Given the description of an element on the screen output the (x, y) to click on. 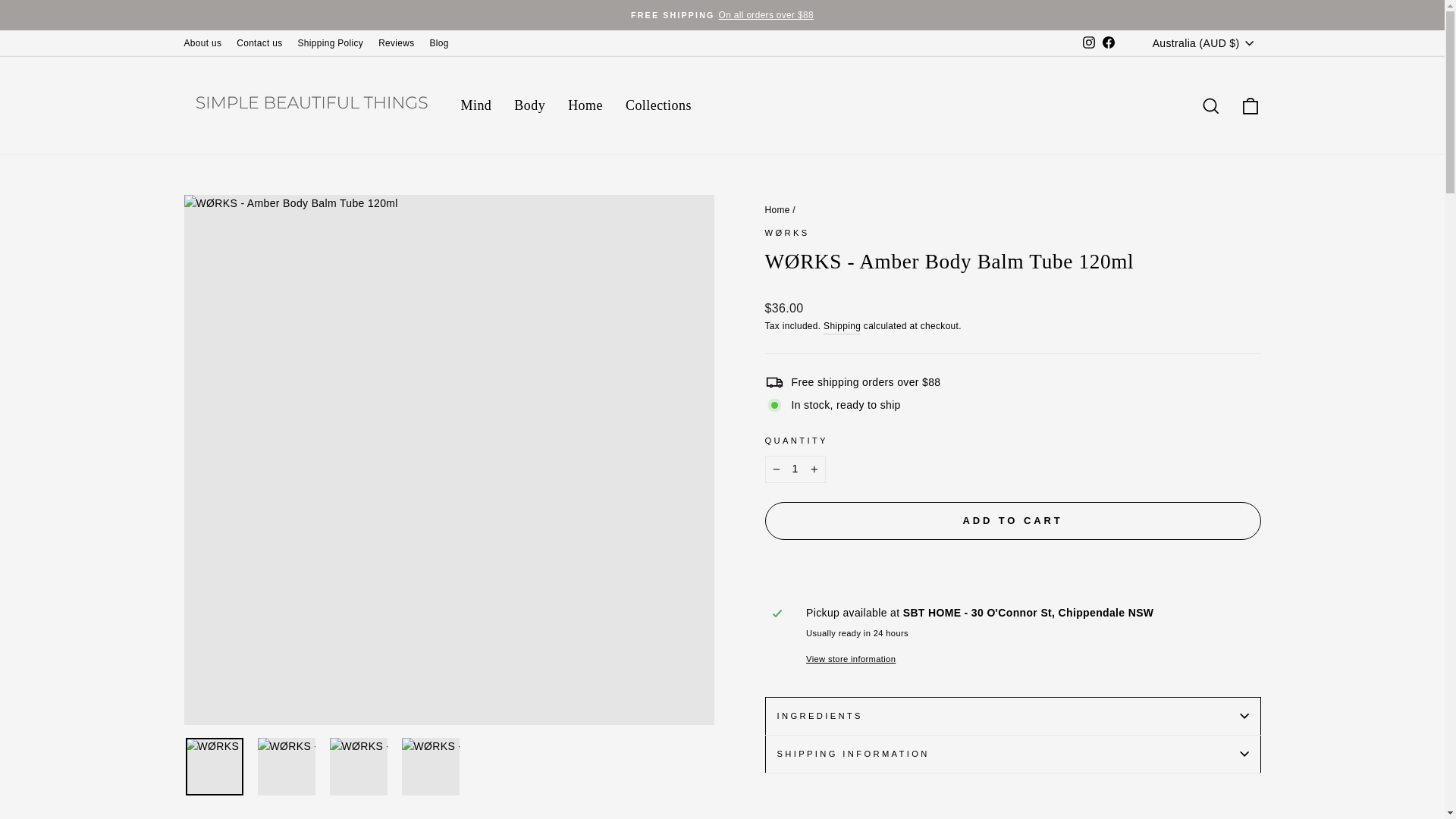
1 (794, 469)
Back to the frontpage (776, 209)
